Given the description of an element on the screen output the (x, y) to click on. 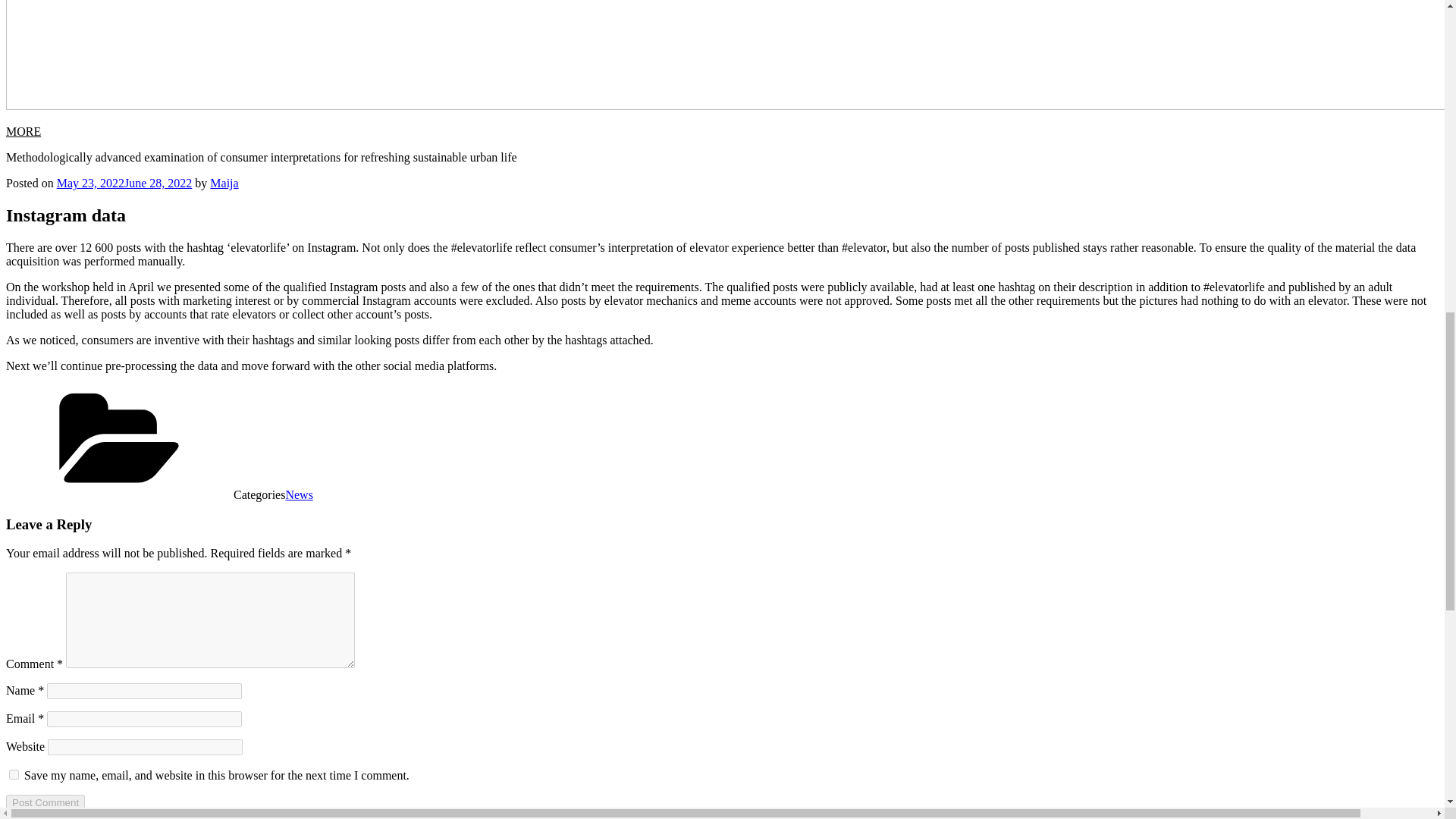
May 23, 2022June 28, 2022 (124, 182)
Maija (223, 182)
MORE (22, 131)
Post Comment (44, 802)
Post Comment (44, 802)
yes (13, 774)
News (299, 494)
